Given the description of an element on the screen output the (x, y) to click on. 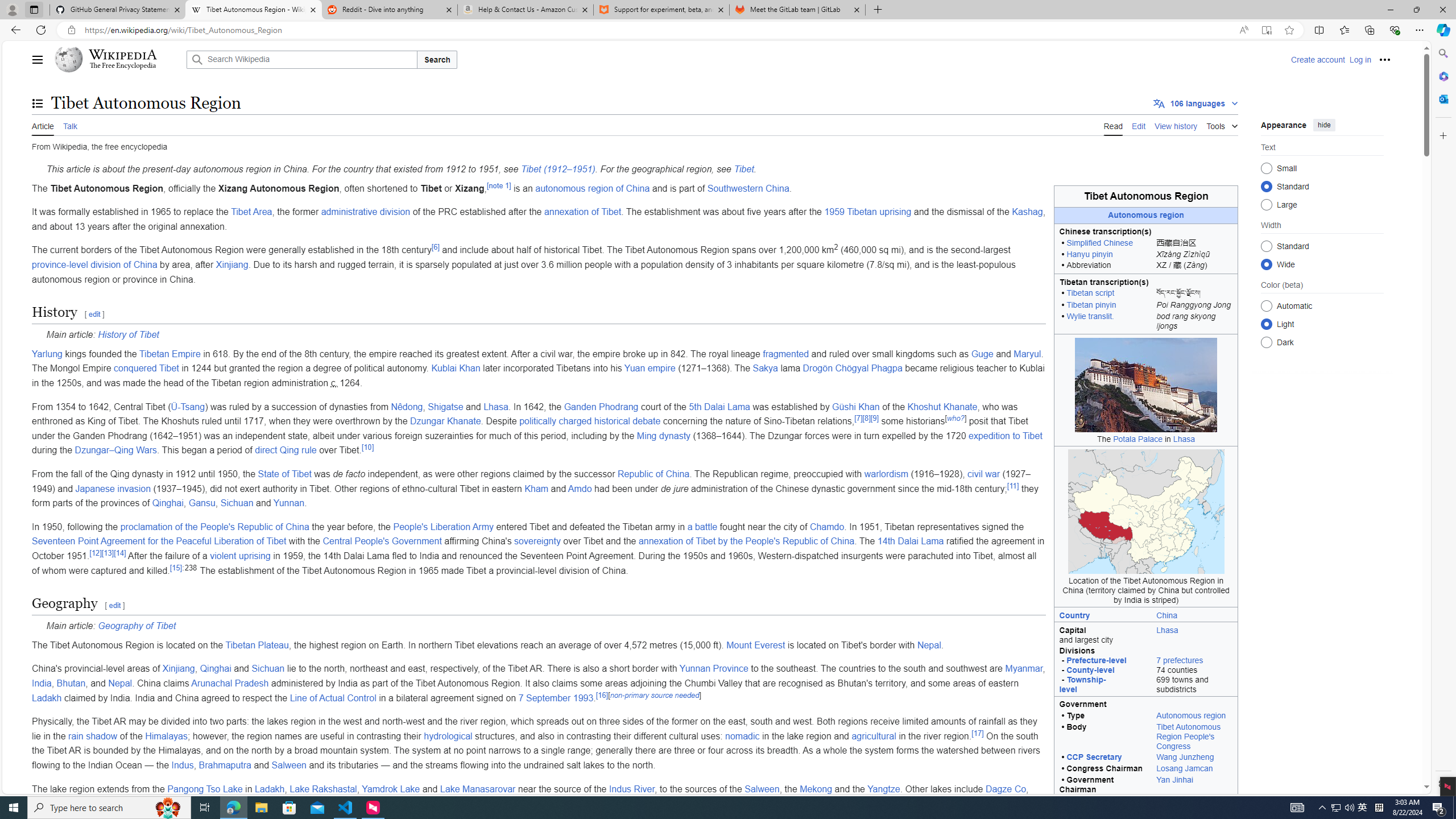
conquered Tibet (146, 368)
Japanese invasion (113, 488)
direct Qing rule (285, 450)
Yarlung (47, 353)
[17] (977, 732)
[14] (119, 552)
province-level division of China (94, 264)
